Given the description of an element on the screen output the (x, y) to click on. 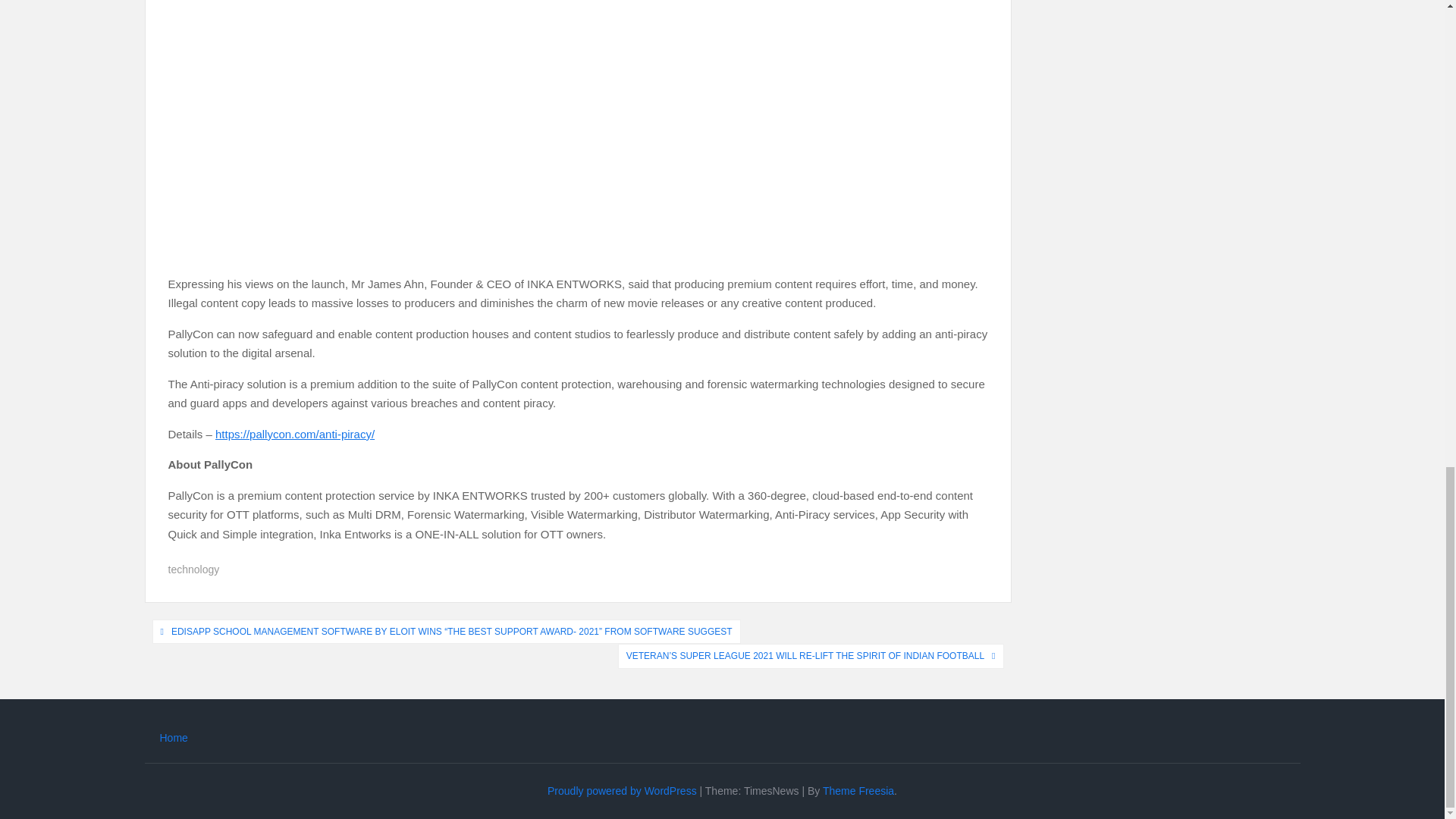
technology (193, 569)
Home (172, 737)
